Given the description of an element on the screen output the (x, y) to click on. 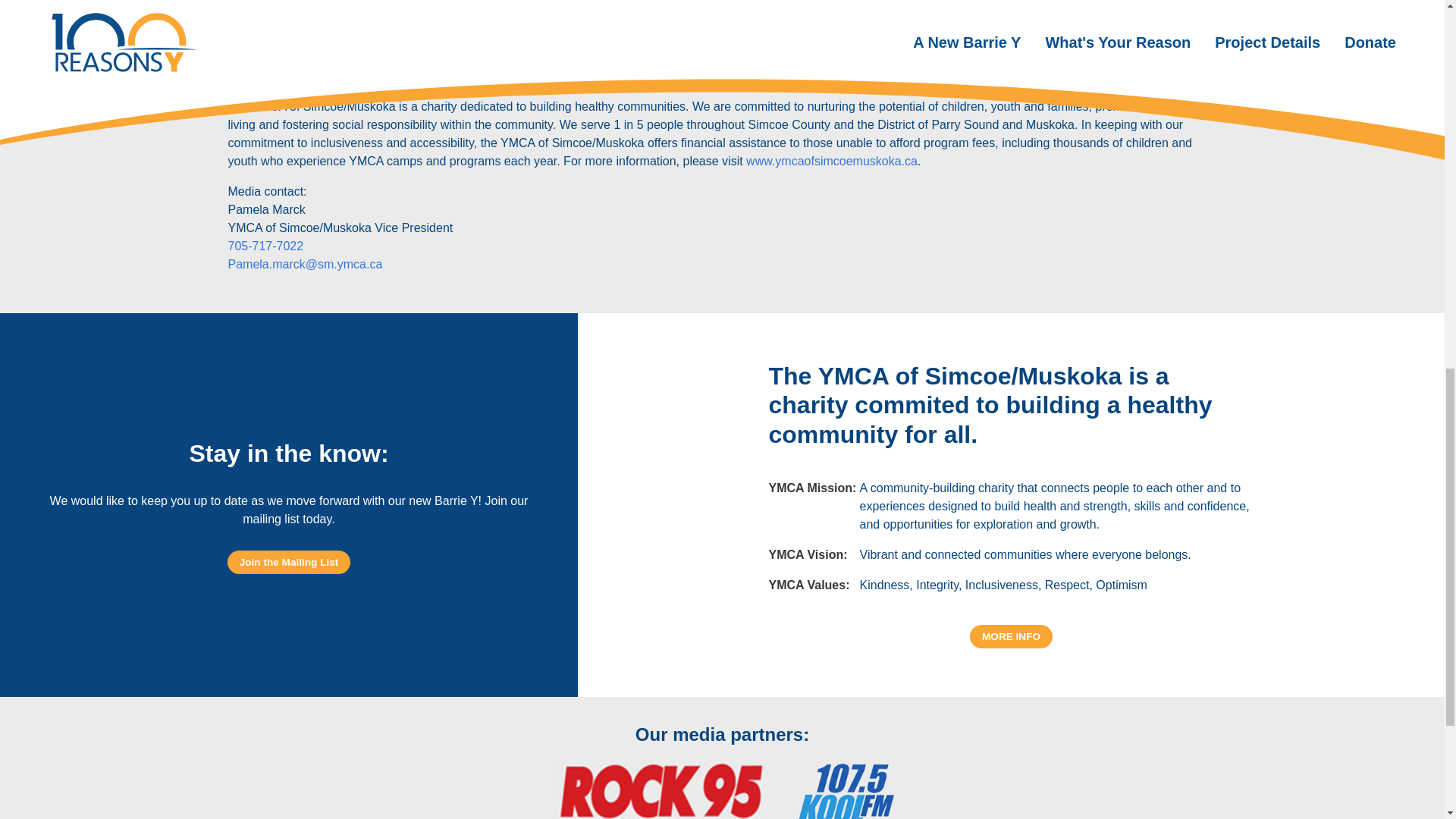
MORE INFO (1010, 635)
MORE INFO (1010, 636)
705-717-7022 (264, 245)
www.100reasonsY.ca (770, 36)
www.ymcaofsimcoemuskoka.ca (831, 160)
Join the Mailing List (288, 562)
